Given the description of an element on the screen output the (x, y) to click on. 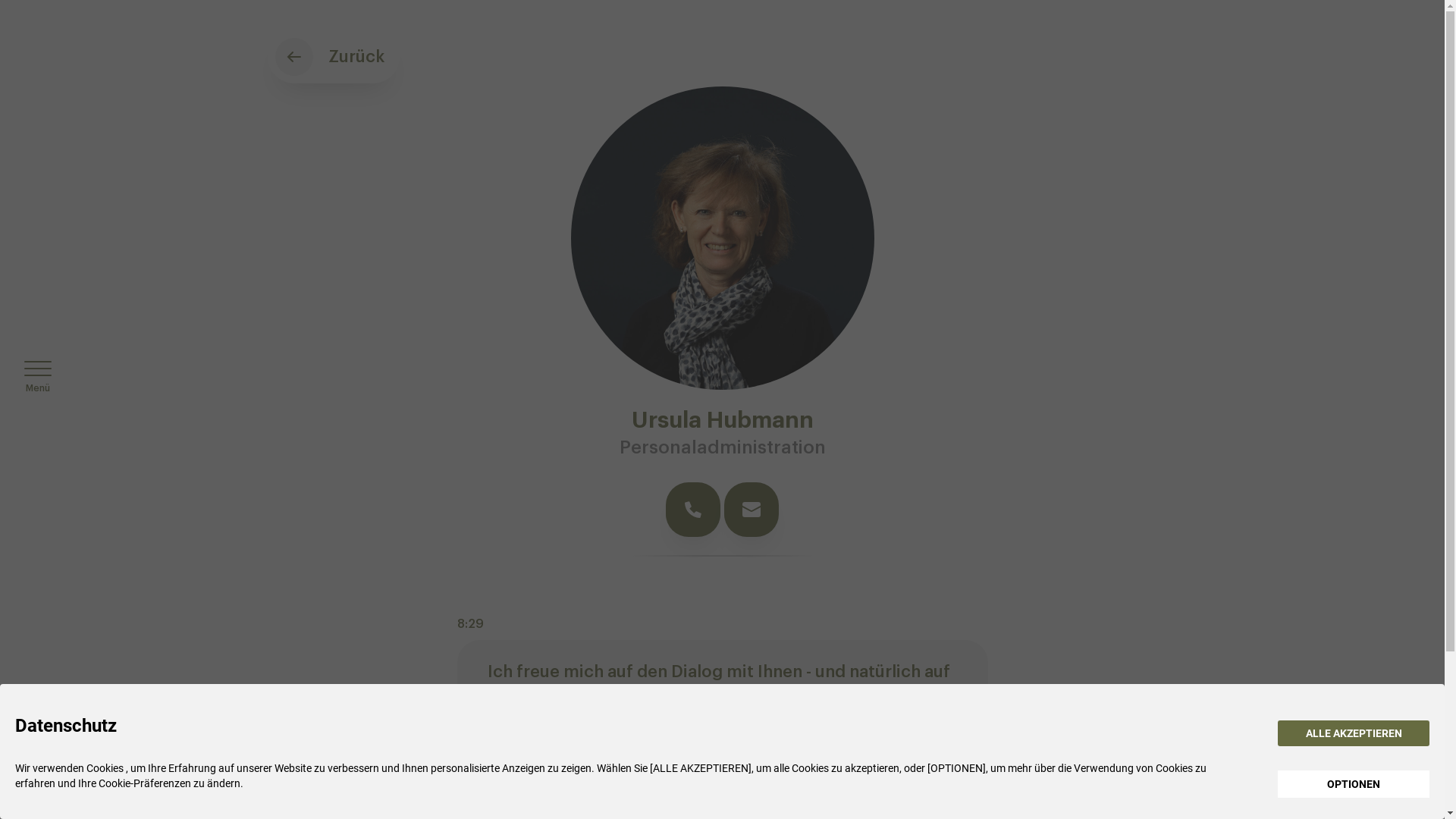
ALLE AKZEPTIEREN Element type: text (1353, 733)
OPTIONEN Element type: text (1353, 783)
